Given the description of an element on the screen output the (x, y) to click on. 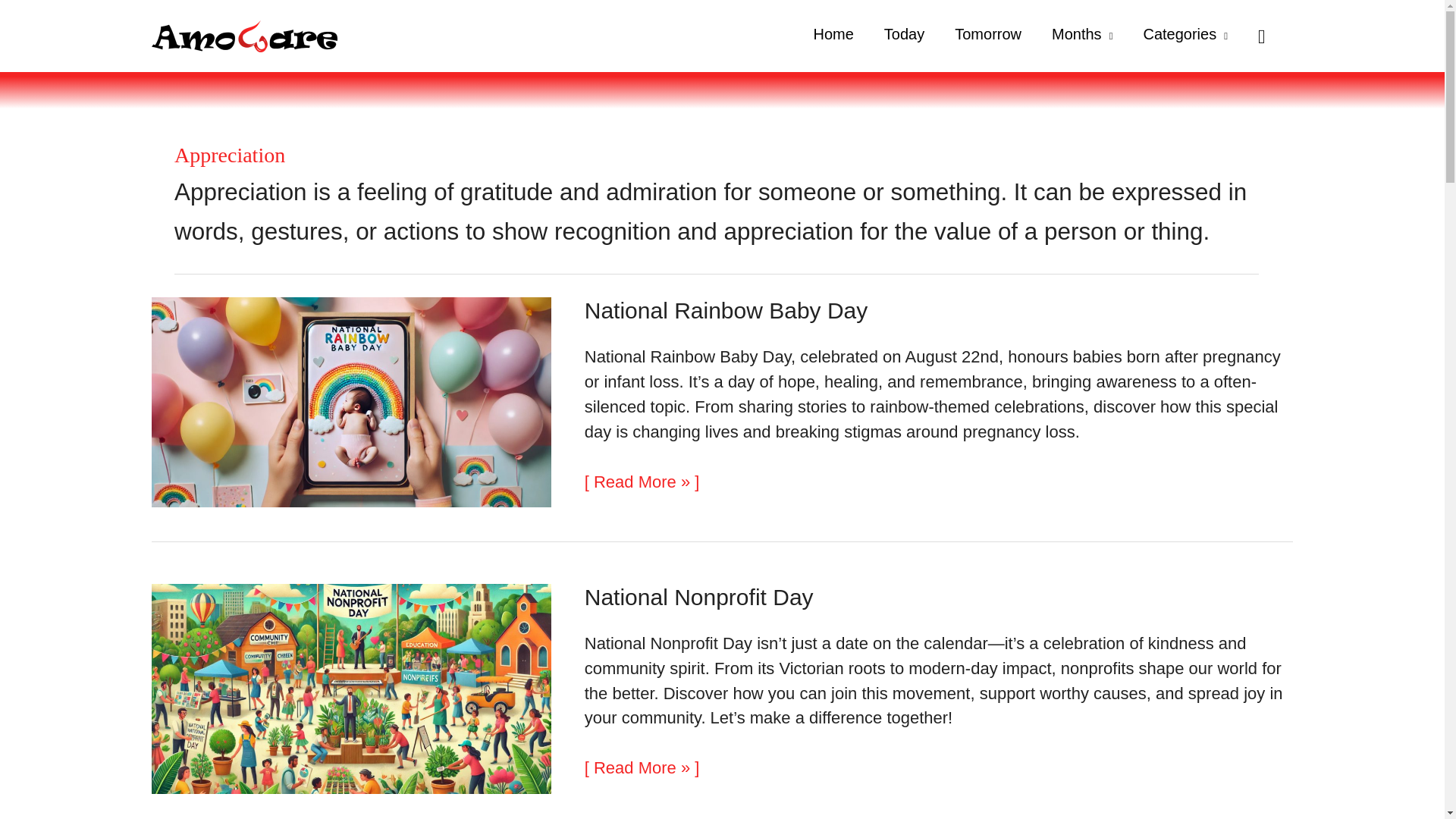
National Rainbow Baby Day (726, 310)
National Nonprofit Day (699, 596)
Today (904, 36)
Categories (1184, 36)
Months (1081, 36)
Home (832, 36)
Tomorrow (987, 36)
